Given the description of an element on the screen output the (x, y) to click on. 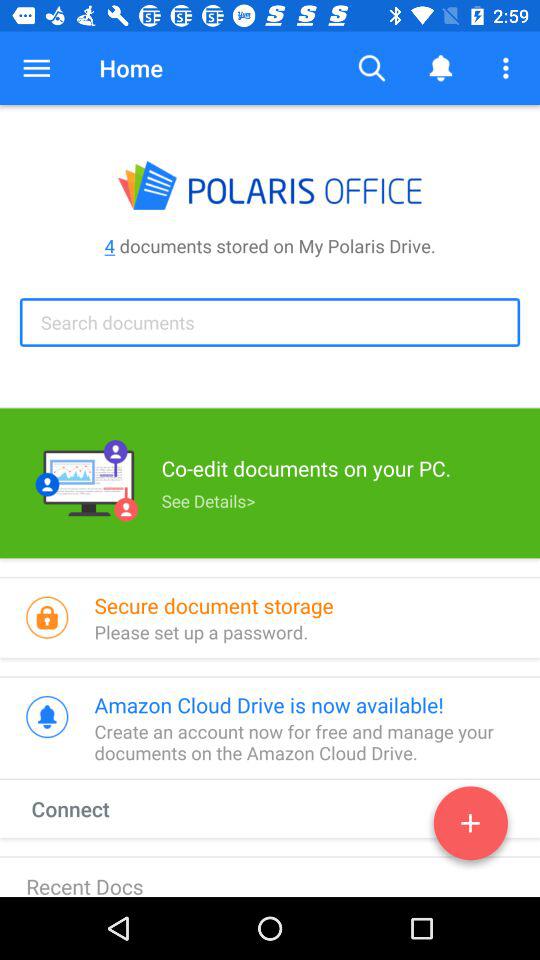
launch the item next to connect icon (470, 827)
